Given the description of an element on the screen output the (x, y) to click on. 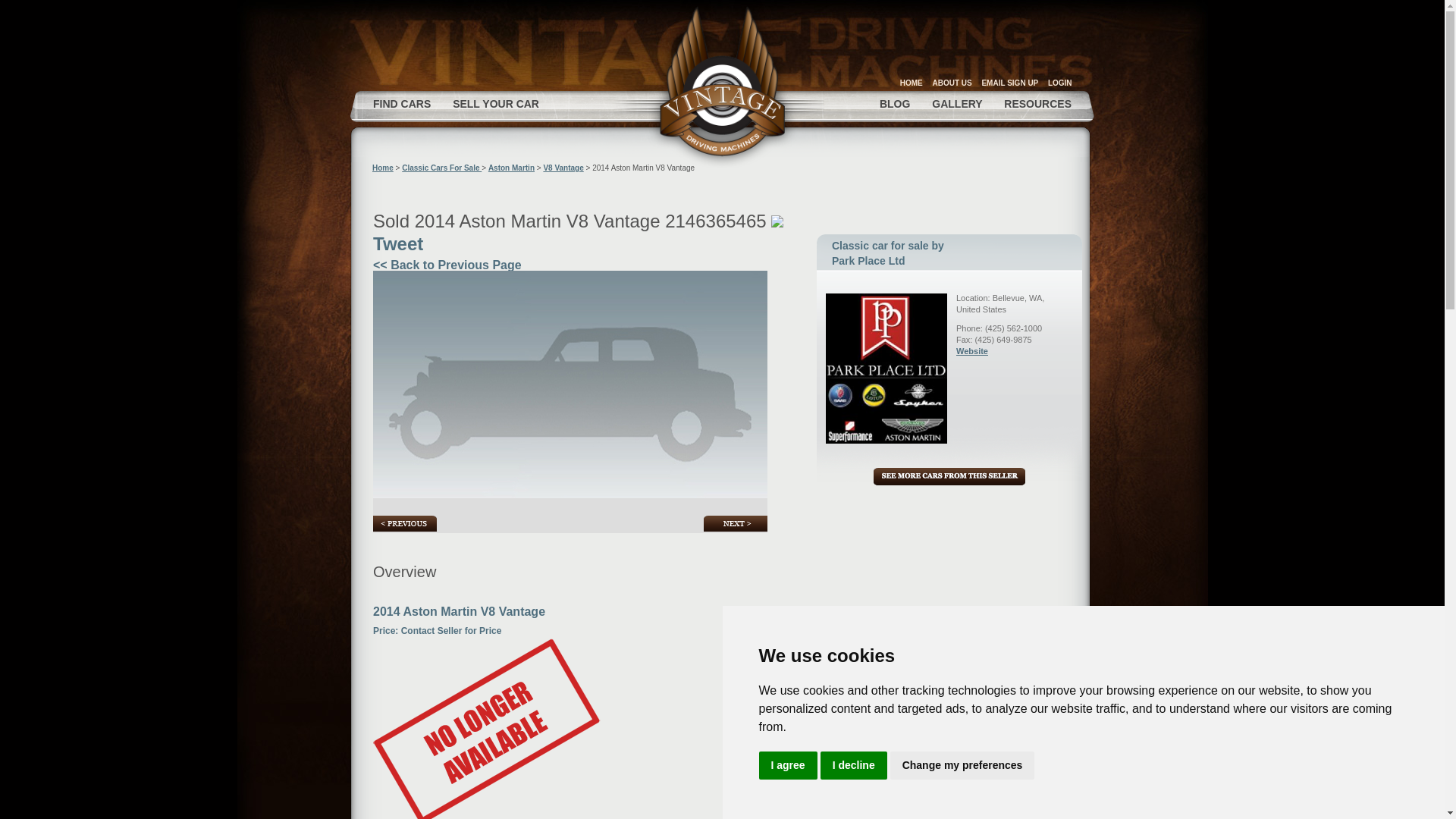
HOME (911, 82)
BLOG (894, 103)
RESOURCES (1037, 103)
GALLERY (956, 103)
Tweet (397, 243)
EMAIL SIGN UP (1009, 82)
Home (722, 84)
Home (382, 167)
SELL YOUR CAR (495, 103)
FIND CARS (401, 103)
